Given the description of an element on the screen output the (x, y) to click on. 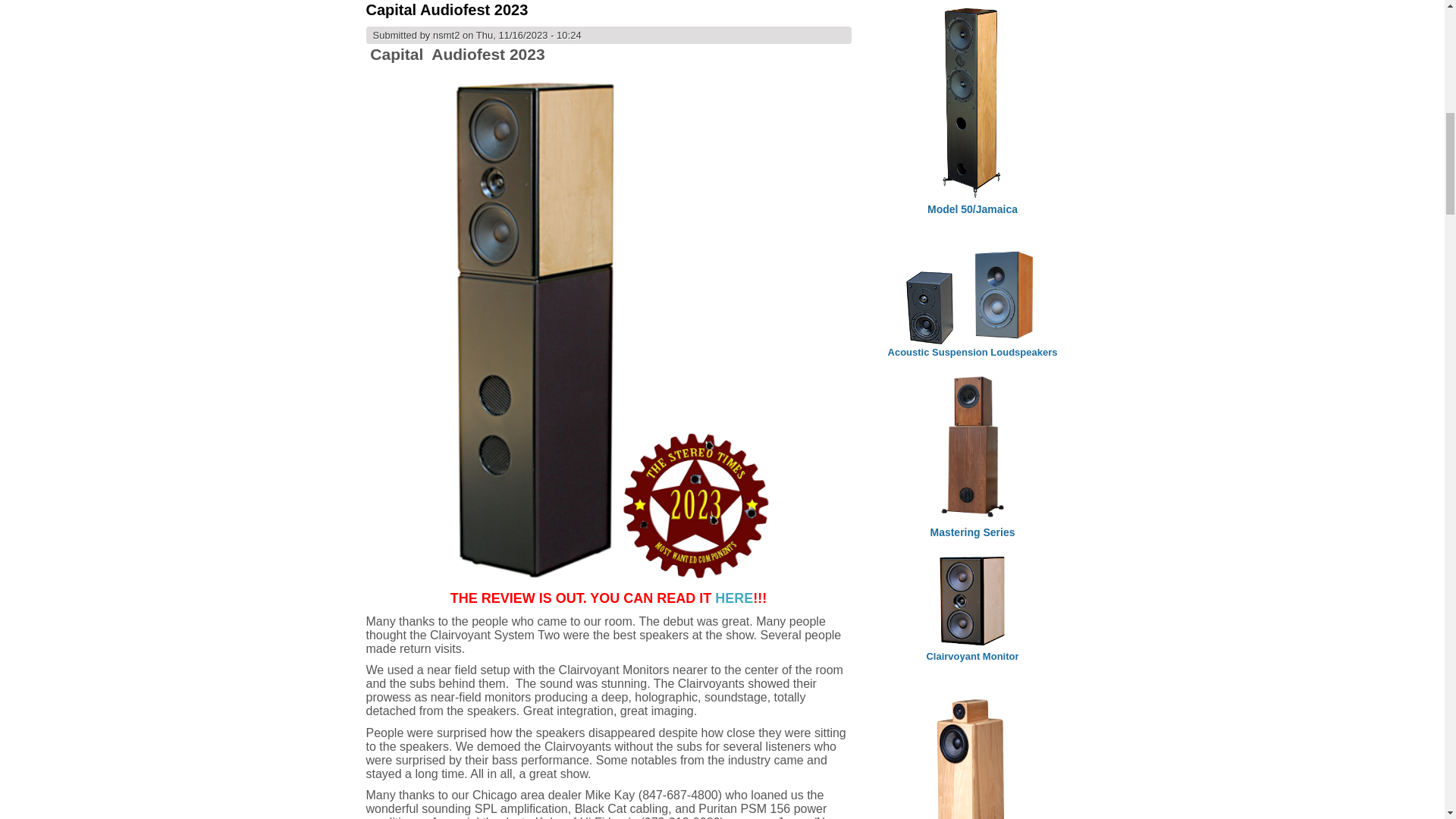
HERE (733, 598)
Capital Audiofest 2023 (446, 9)
